Given the description of an element on the screen output the (x, y) to click on. 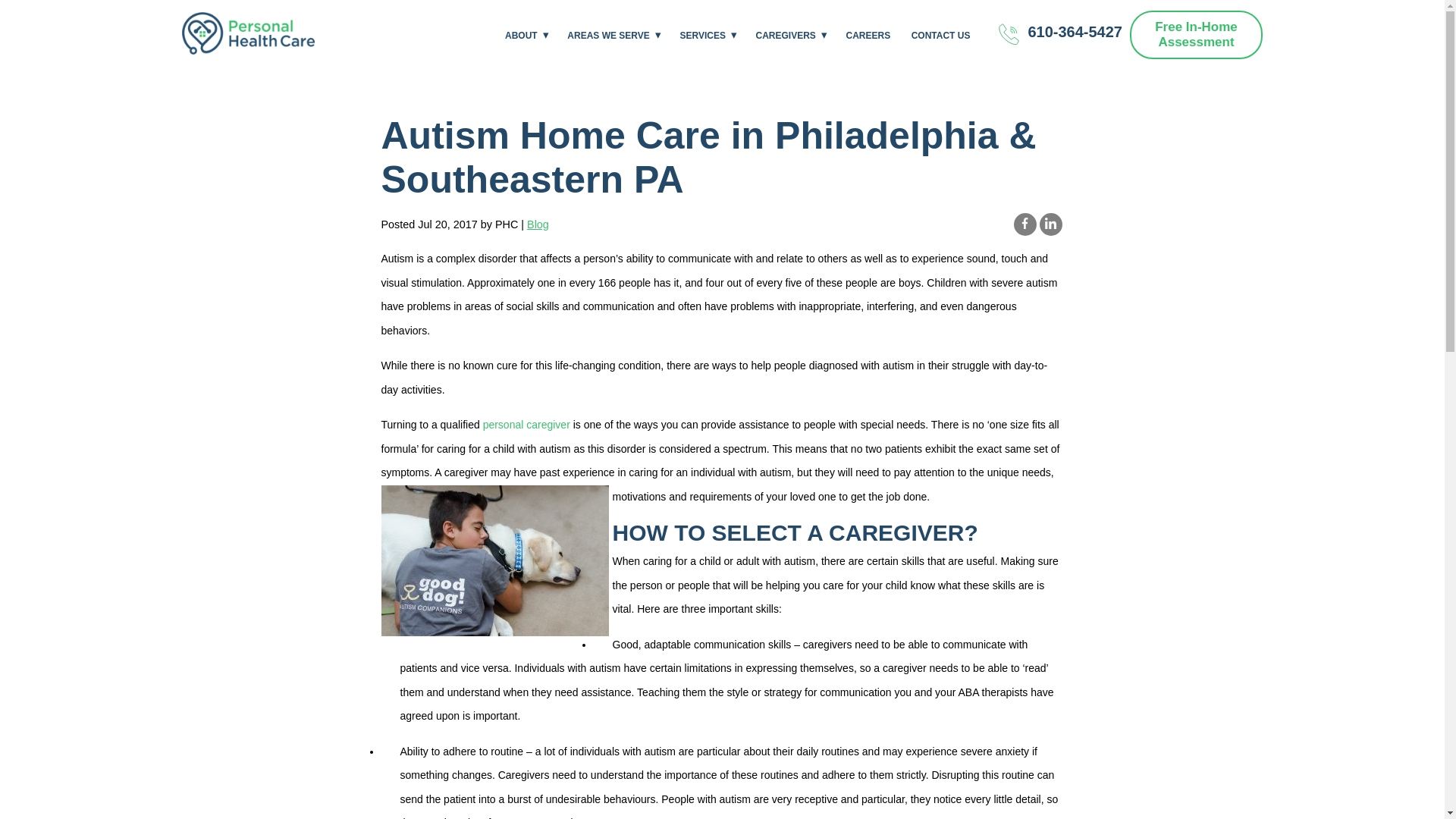
Free In-Home Assessment (1195, 34)
ABOUT (521, 35)
610-364-5427 (1053, 34)
Share on Facebook (1024, 223)
CONTACT US (940, 35)
CAREGIVERS (786, 35)
Blog (537, 224)
SERVICES (701, 35)
Share on LinkedIn (1050, 223)
CAREERS (867, 35)
